Given the description of an element on the screen output the (x, y) to click on. 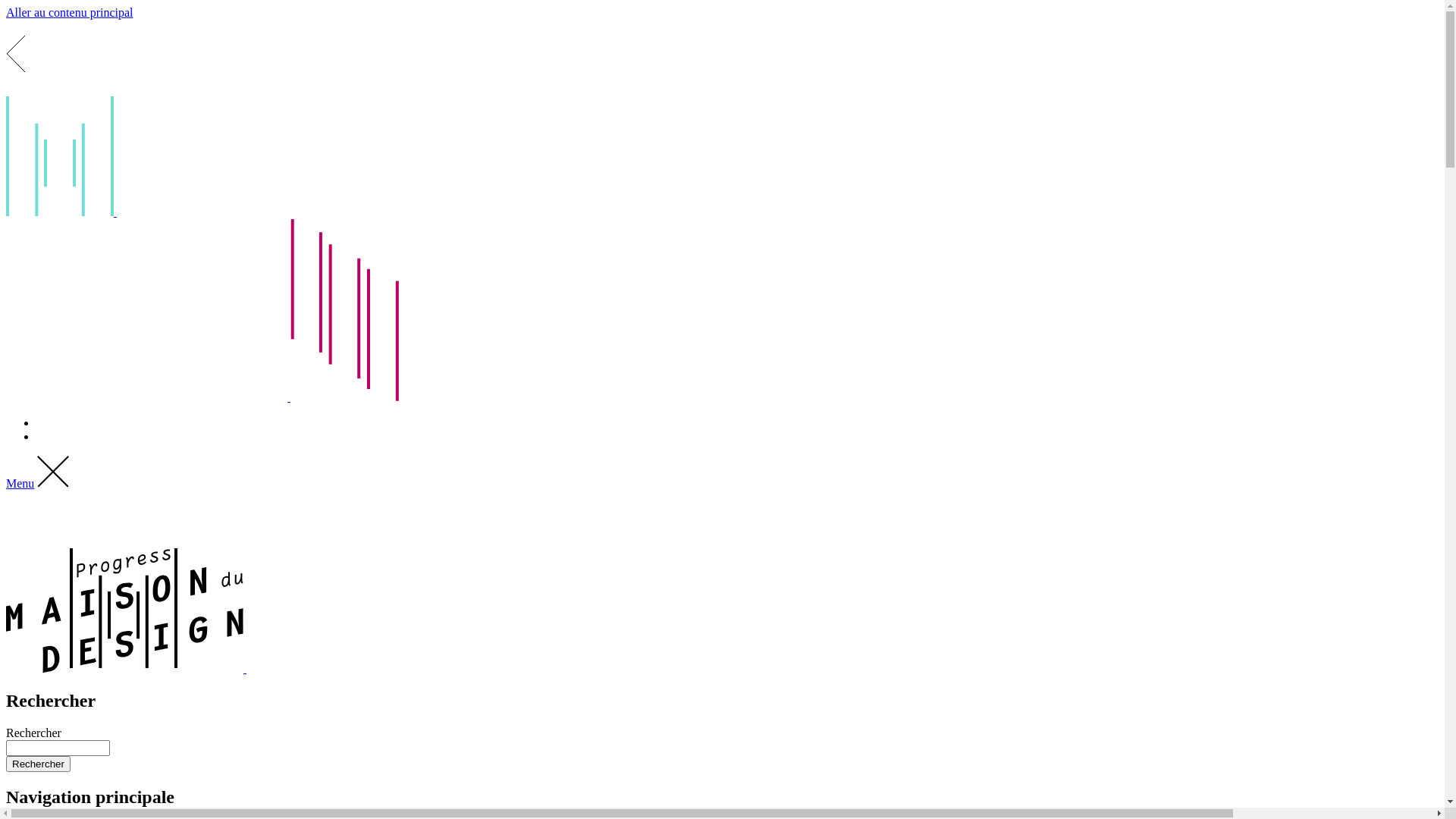
Menu Element type: text (20, 482)
logo-AP-white Element type: text (386, 668)
logo-MDD_blanc Group 4 Element type: text (722, 155)
left arrow Element type: text (722, 55)
logo_MDD--noir Element type: text (126, 668)
Rechercher Element type: text (38, 763)
cross Element type: text (53, 482)
logo-APP_blanc-txt Fill 4 Element type: text (722, 311)
Aller au contenu principal Element type: text (69, 12)
